Given the description of an element on the screen output the (x, y) to click on. 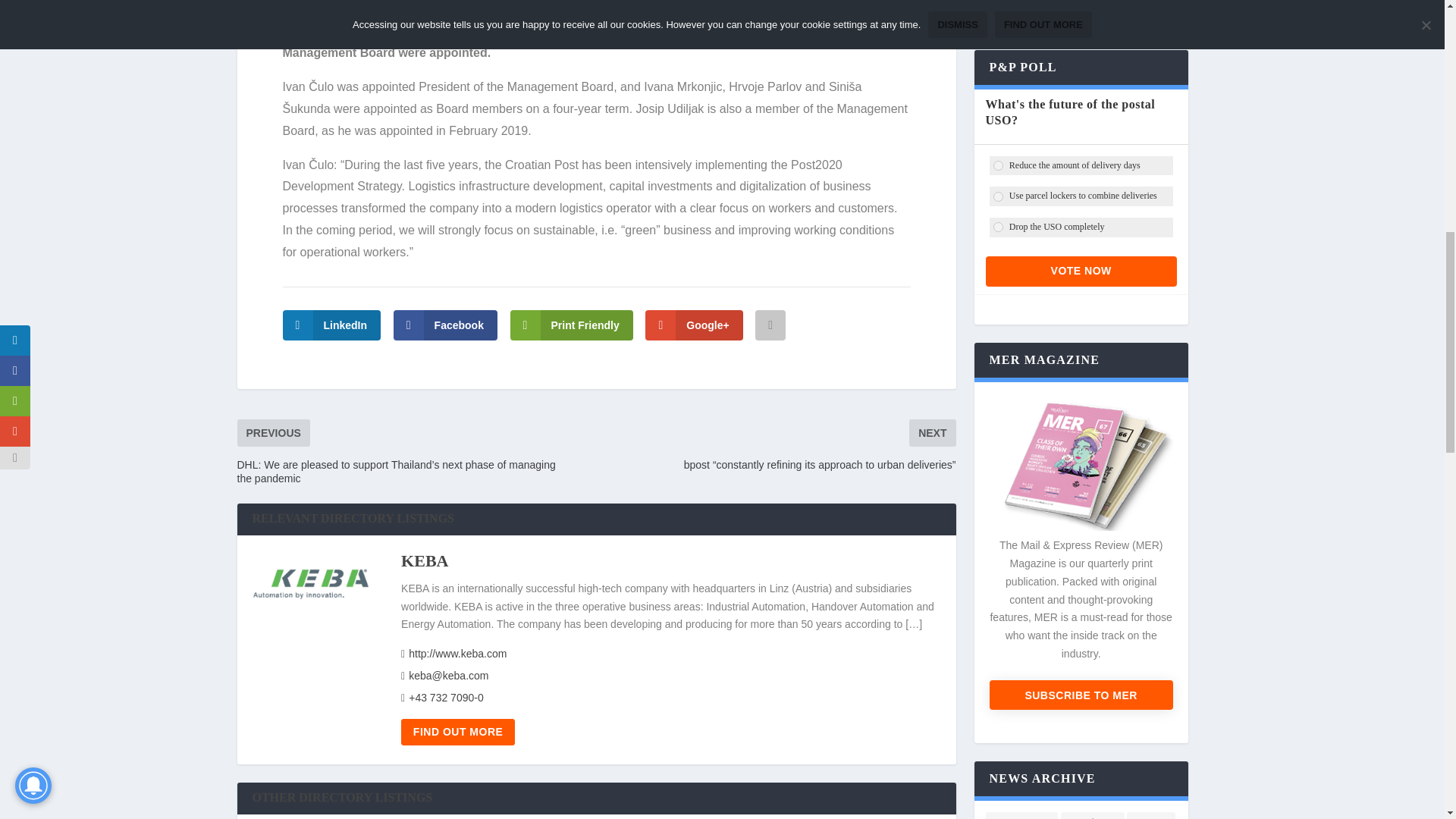
281 (997, 196)
282 (997, 226)
280 (997, 165)
